Given the description of an element on the screen output the (x, y) to click on. 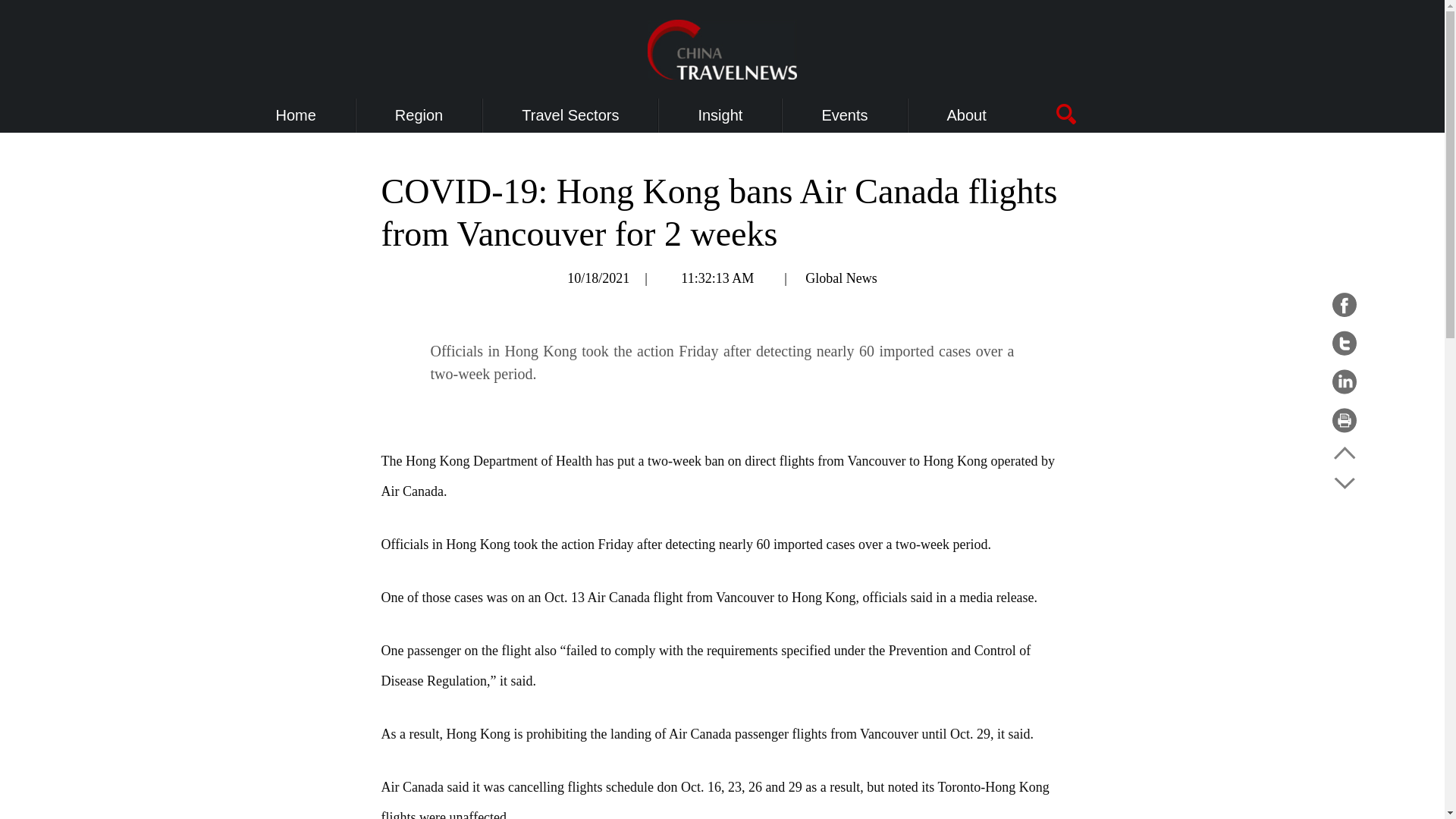
About (967, 115)
Home (295, 115)
Events (844, 115)
